Given the description of an element on the screen output the (x, y) to click on. 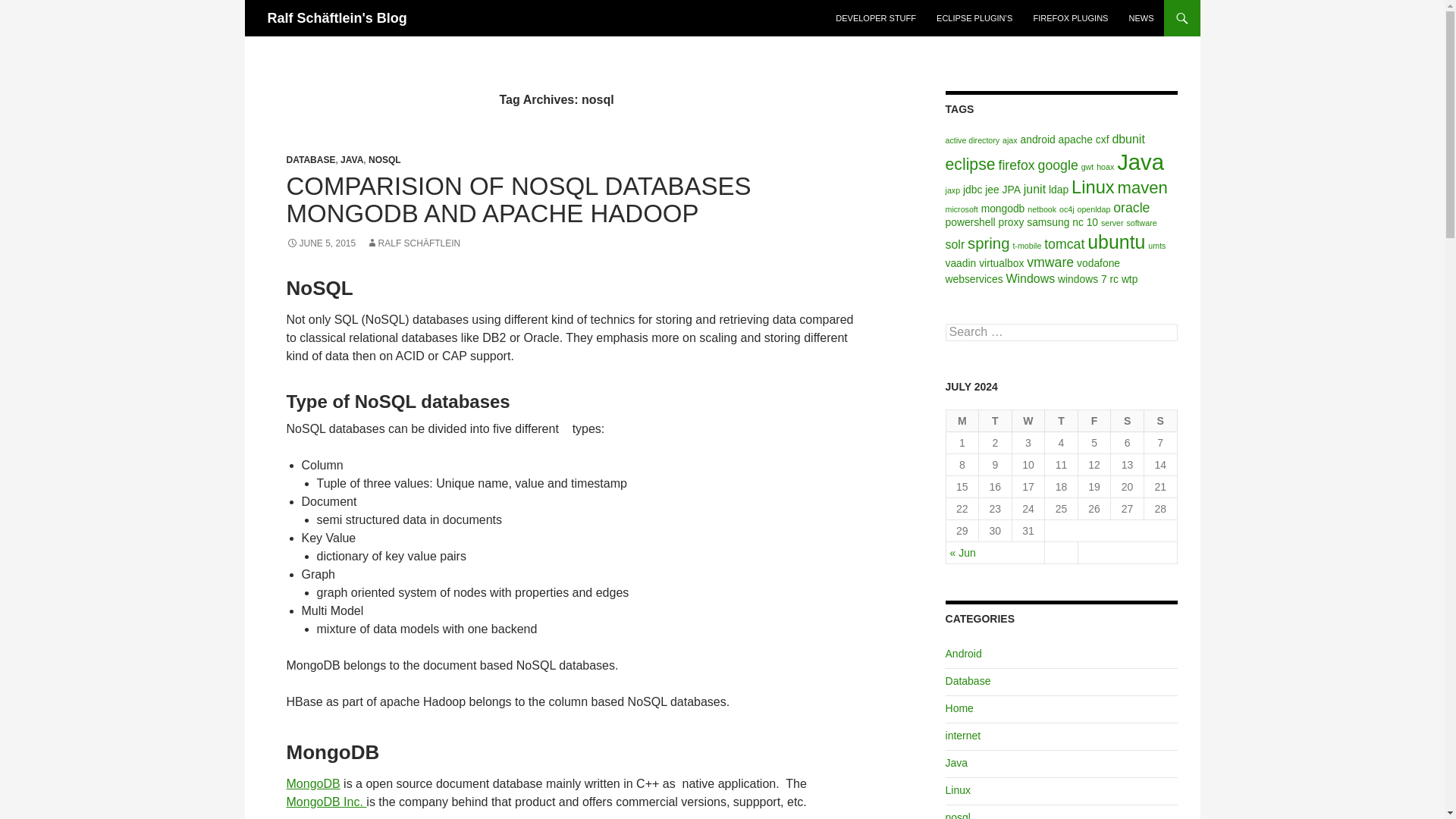
NOSQL (384, 159)
jaxp (952, 189)
cxf (1102, 139)
eclipse (969, 162)
Friday (1095, 421)
android (1037, 139)
DEVELOPER STUFF (875, 18)
FIREFOX PLUGINS (1069, 18)
Java (1139, 160)
MongoDB (313, 783)
firefox (1015, 165)
Monday (962, 421)
active directory (972, 139)
Tuesday (994, 421)
